Given the description of an element on the screen output the (x, y) to click on. 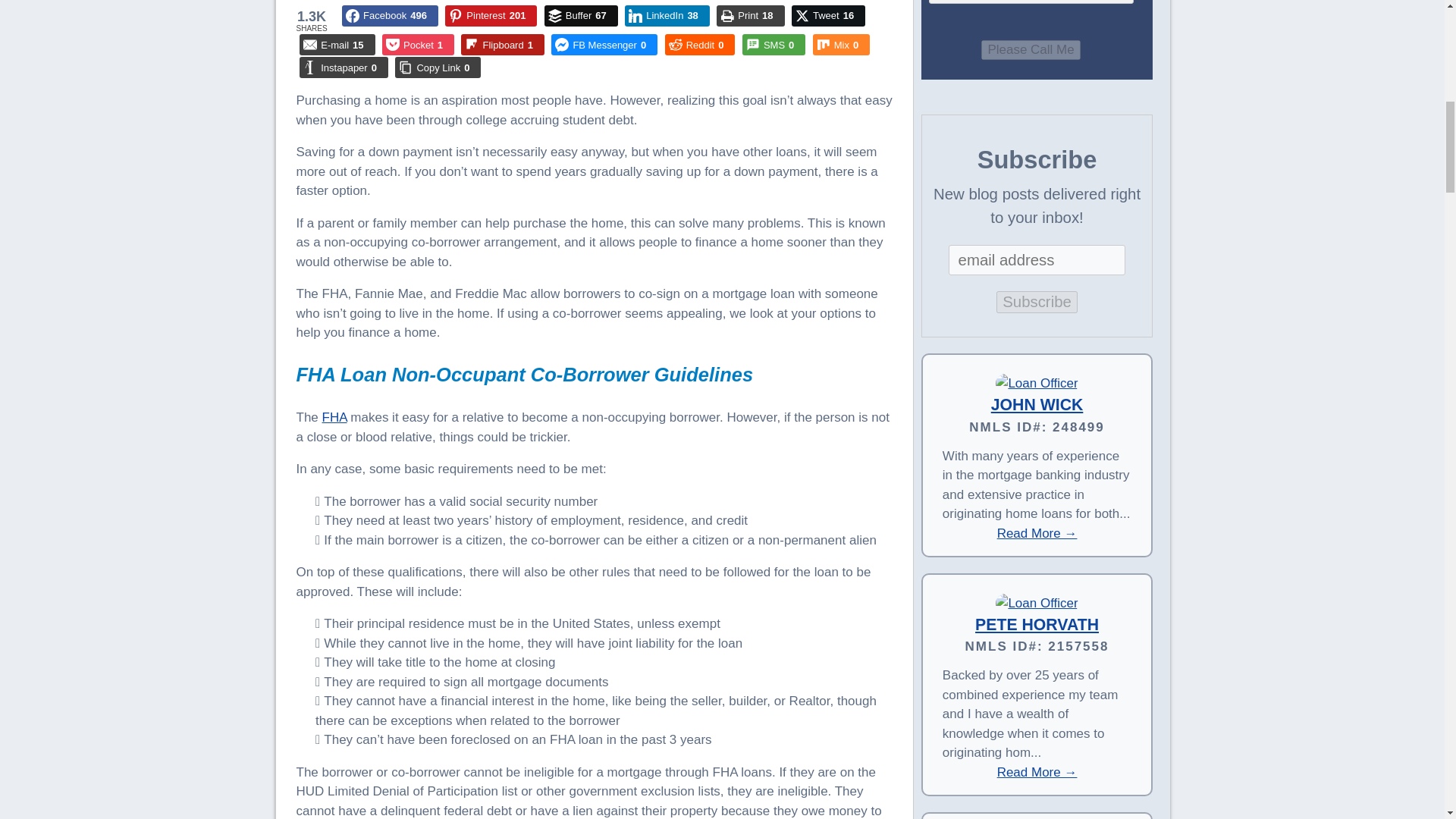
Please Call Me (1030, 49)
Share on Pinterest (491, 14)
Share on LinkedIn (667, 14)
Share on Buffer (580, 14)
Share on Facebook (390, 14)
Subscribe (1036, 301)
